Given the description of an element on the screen output the (x, y) to click on. 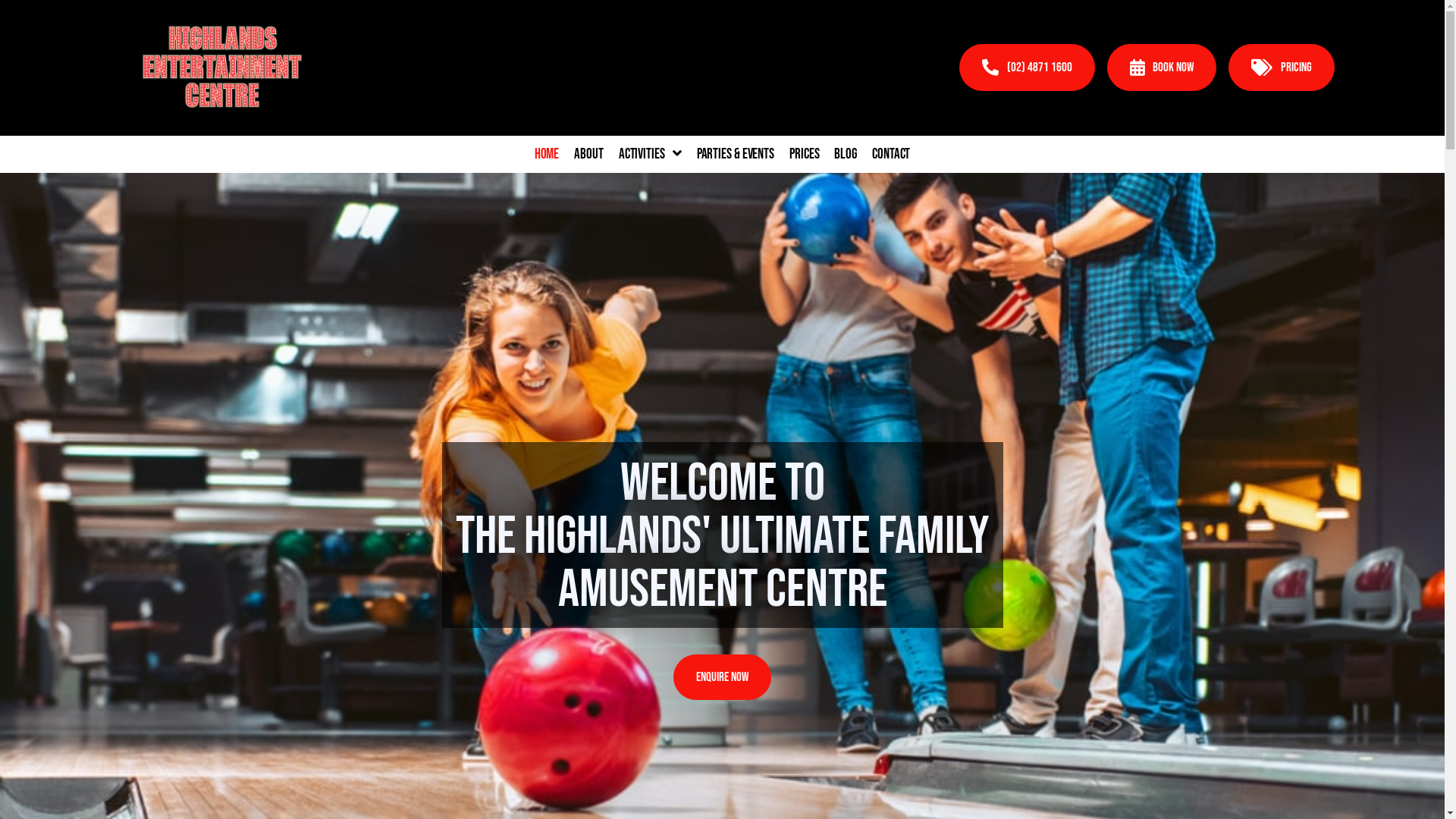
HOME Element type: text (547, 154)
PRICING Element type: text (1281, 67)
CONTACT Element type: text (890, 154)
ABOUT Element type: text (588, 154)
ENQUIRE NOW Element type: text (722, 676)
PARTIES & EVENTS Element type: text (735, 154)
(02) 4871 1600 Element type: text (1027, 67)
BLOG Element type: text (845, 154)
PRICES Element type: text (803, 154)
BOOK NOW Element type: text (1161, 67)
ACTIVITIES Element type: text (650, 154)
